Given the description of an element on the screen output the (x, y) to click on. 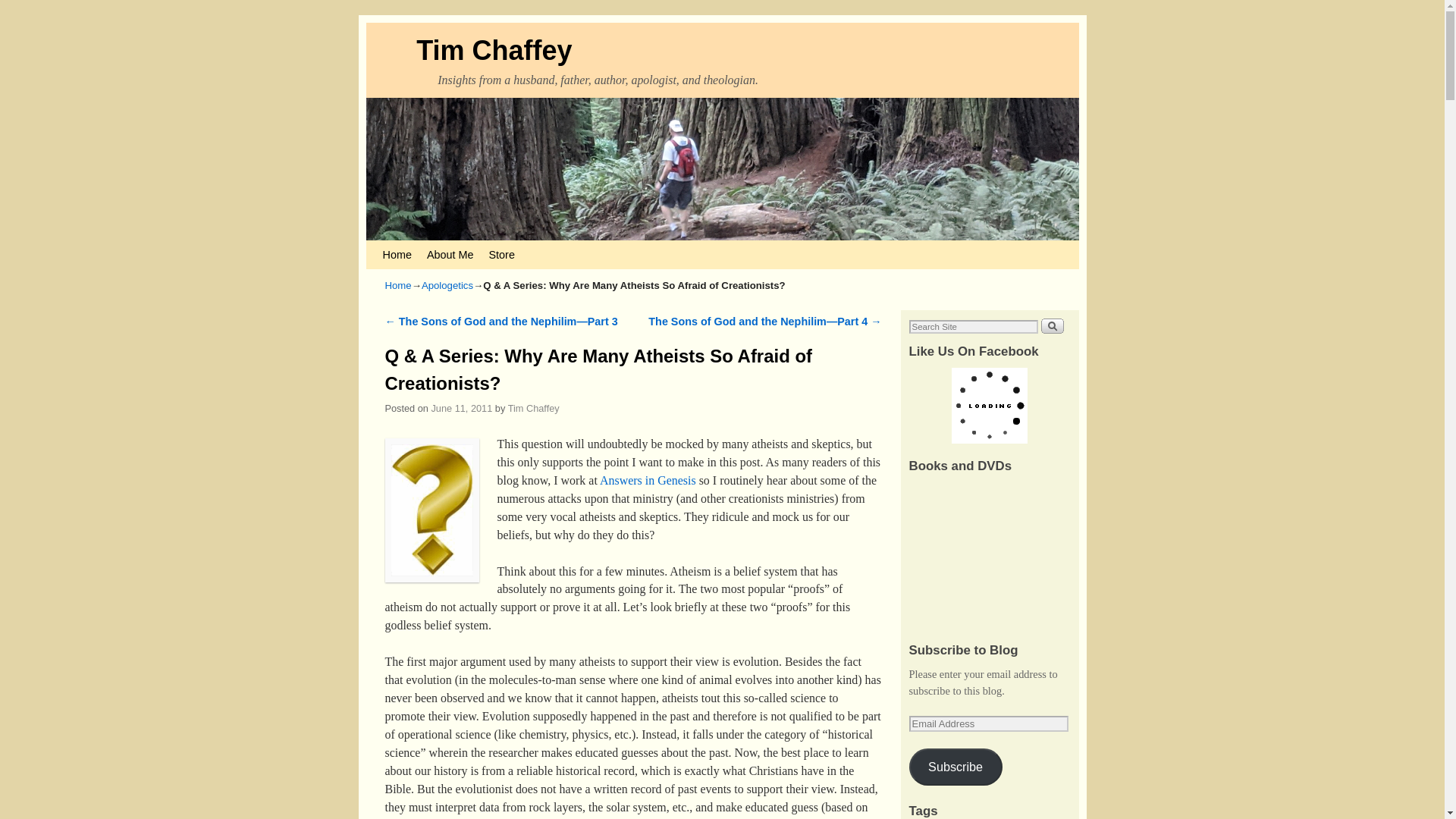
View all posts by Tim Chaffey (533, 408)
Tim Chaffey (494, 50)
Tim Chaffey (533, 408)
9:16 am (461, 408)
Home (398, 285)
Tim Chaffey (494, 50)
Answers in Genesis (647, 480)
About Me (450, 254)
Store (500, 254)
Apologetics (447, 285)
